Given the description of an element on the screen output the (x, y) to click on. 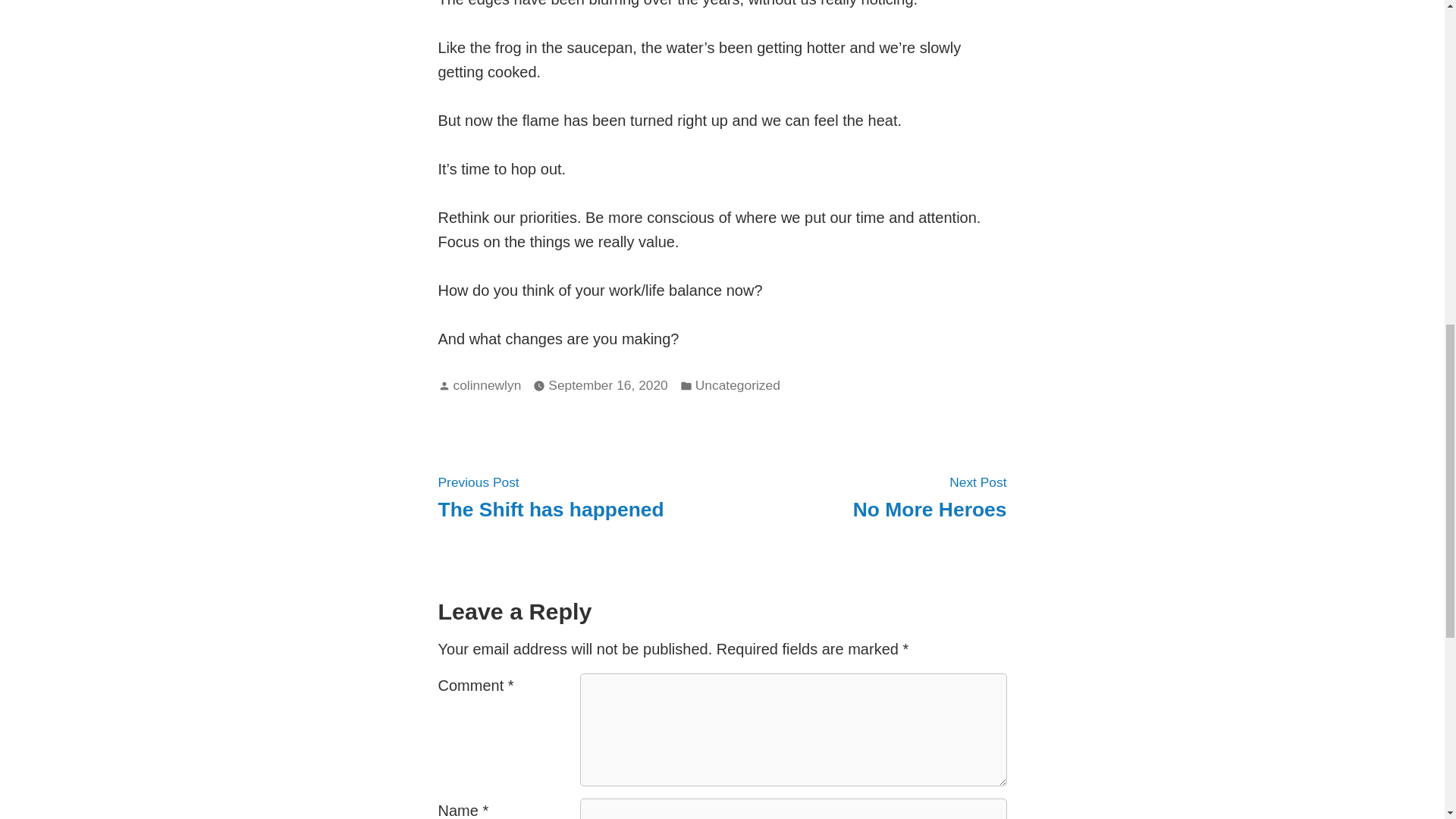
Uncategorized (550, 496)
colinnewlyn (737, 385)
September 16, 2020 (486, 385)
